Given the description of an element on the screen output the (x, y) to click on. 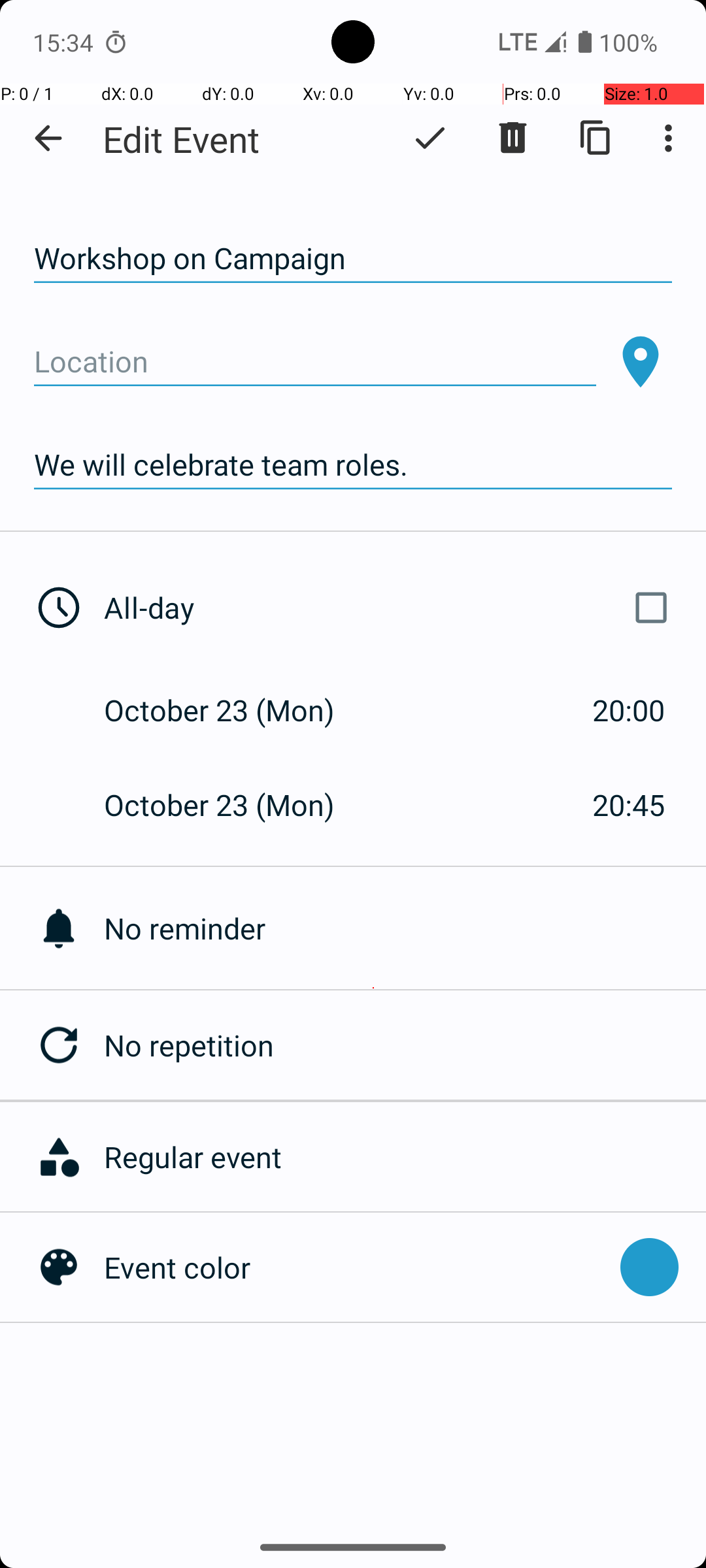
We will celebrate team roles. Element type: android.widget.EditText (352, 465)
October 23 (Mon) Element type: android.widget.TextView (232, 709)
20:45 Element type: android.widget.TextView (628, 804)
